Given the description of an element on the screen output the (x, y) to click on. 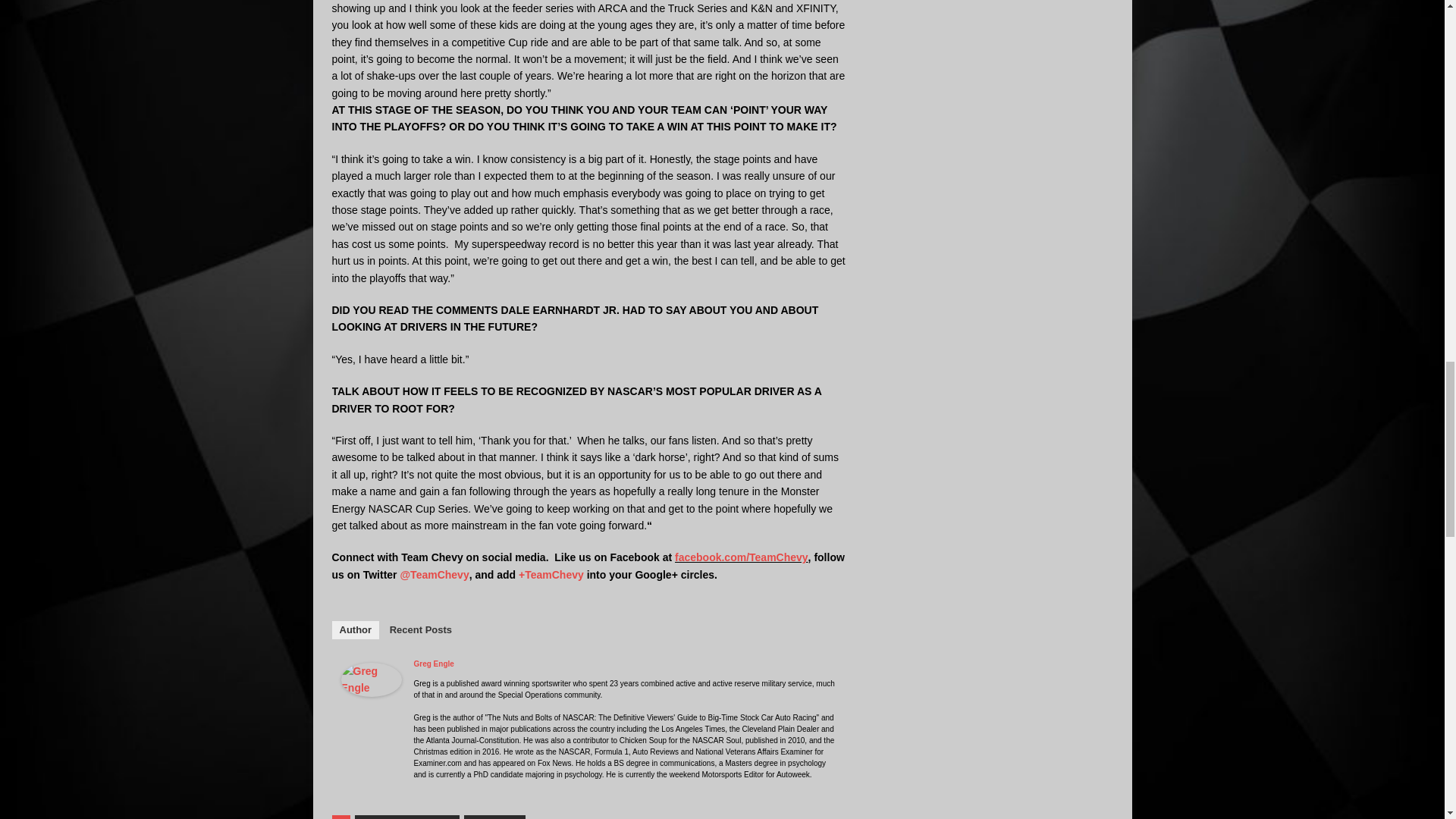
Greg Engle (370, 687)
Author (355, 629)
Recent Posts (420, 629)
Greg Engle (433, 664)
